Given the description of an element on the screen output the (x, y) to click on. 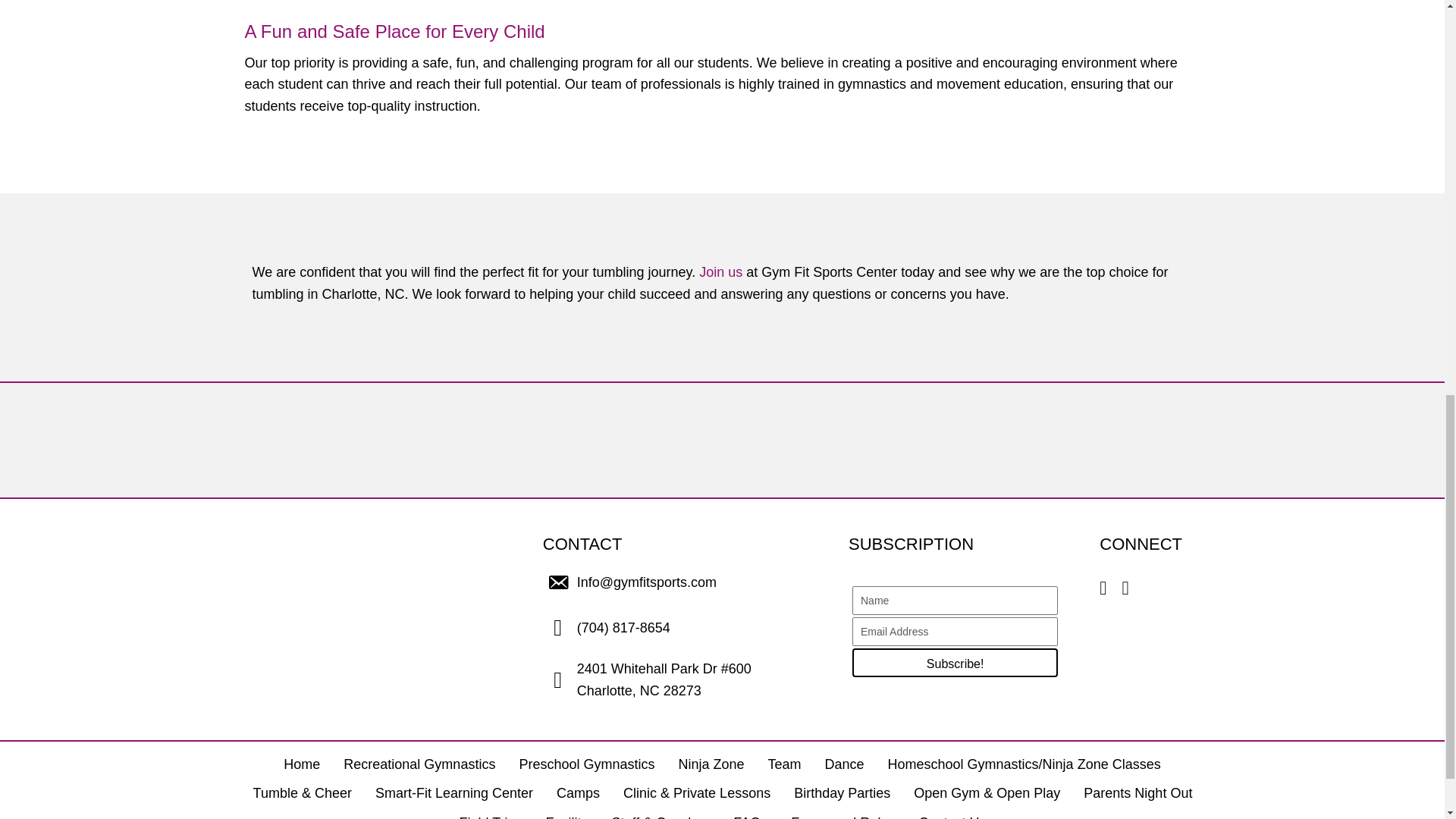
Join us (720, 272)
logo (320, 608)
